Given the description of an element on the screen output the (x, y) to click on. 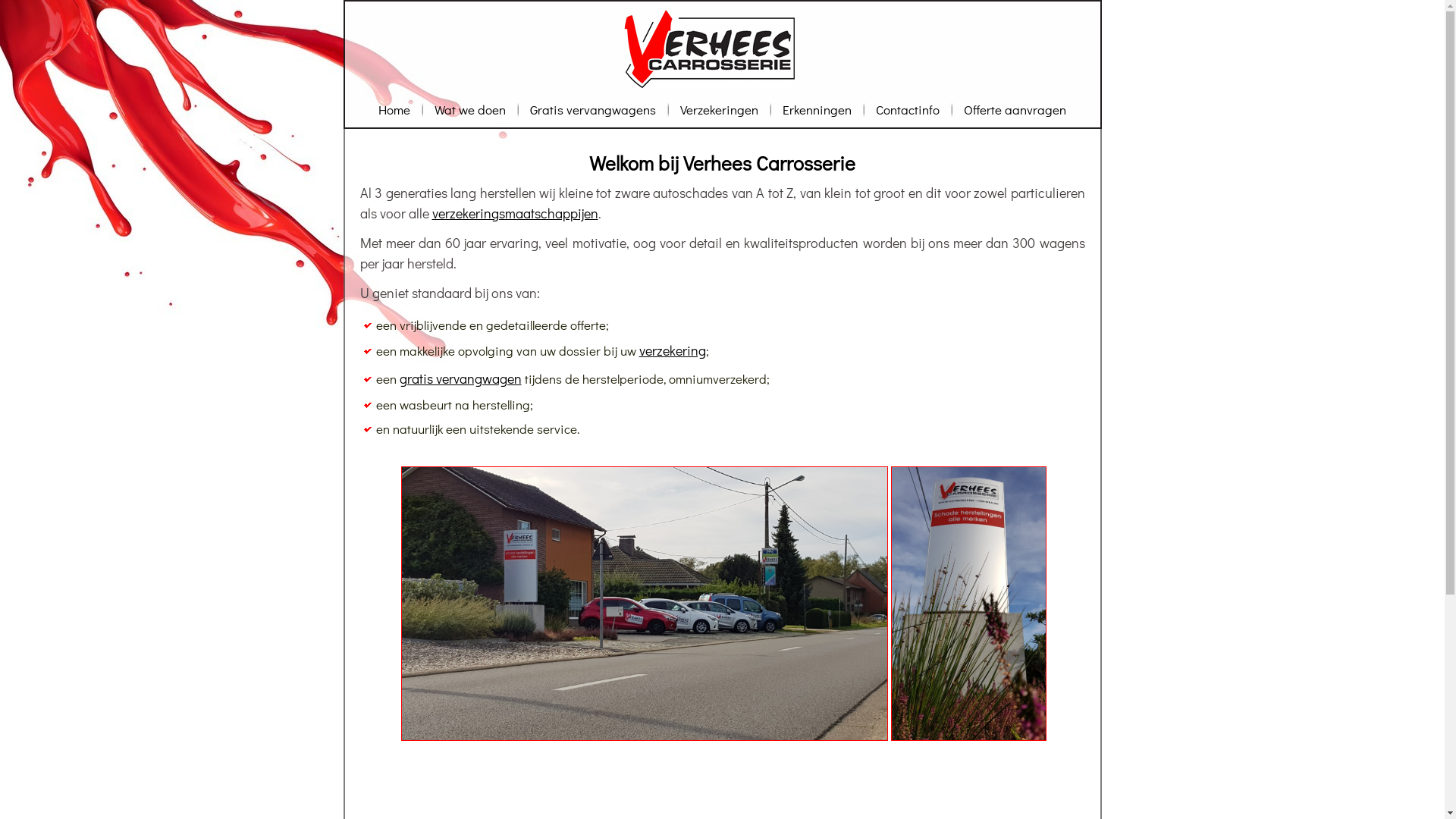
verzekering Element type: text (671, 350)
verzekeringsmaatschappijen Element type: text (515, 212)
Erkenningen Element type: text (816, 109)
Home Element type: text (394, 109)
gratis vervangwagen Element type: text (459, 378)
Verzekeringen Element type: text (718, 109)
Contactinfo Element type: text (907, 109)
Offerte aanvragen Element type: text (1014, 109)
Wat we doen Element type: text (470, 109)
Gratis vervangwagens Element type: text (592, 109)
